Given the description of an element on the screen output the (x, y) to click on. 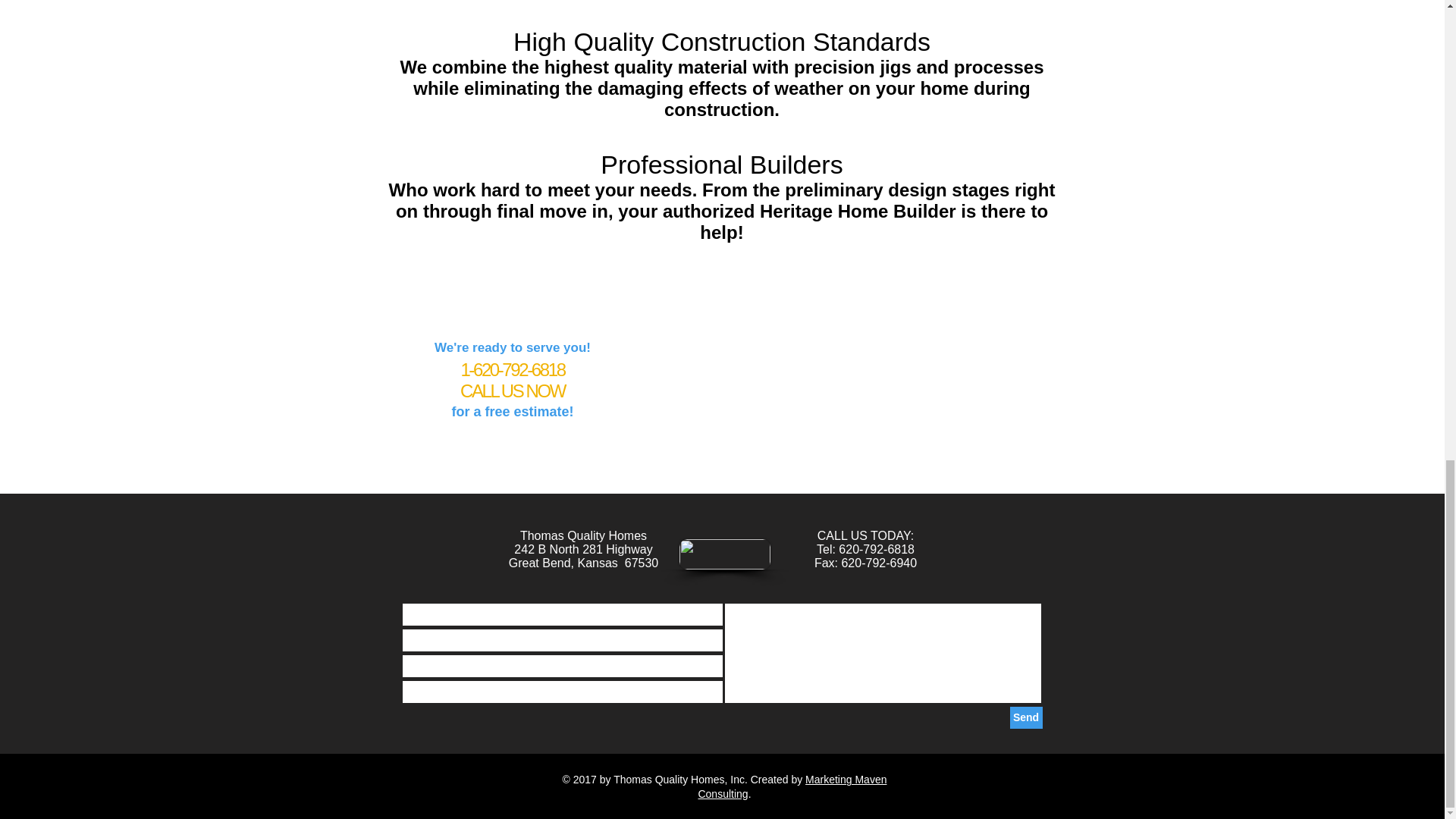
Send (1026, 717)
External YouTube (843, 388)
Marketing Maven Consulting (791, 786)
